Given the description of an element on the screen output the (x, y) to click on. 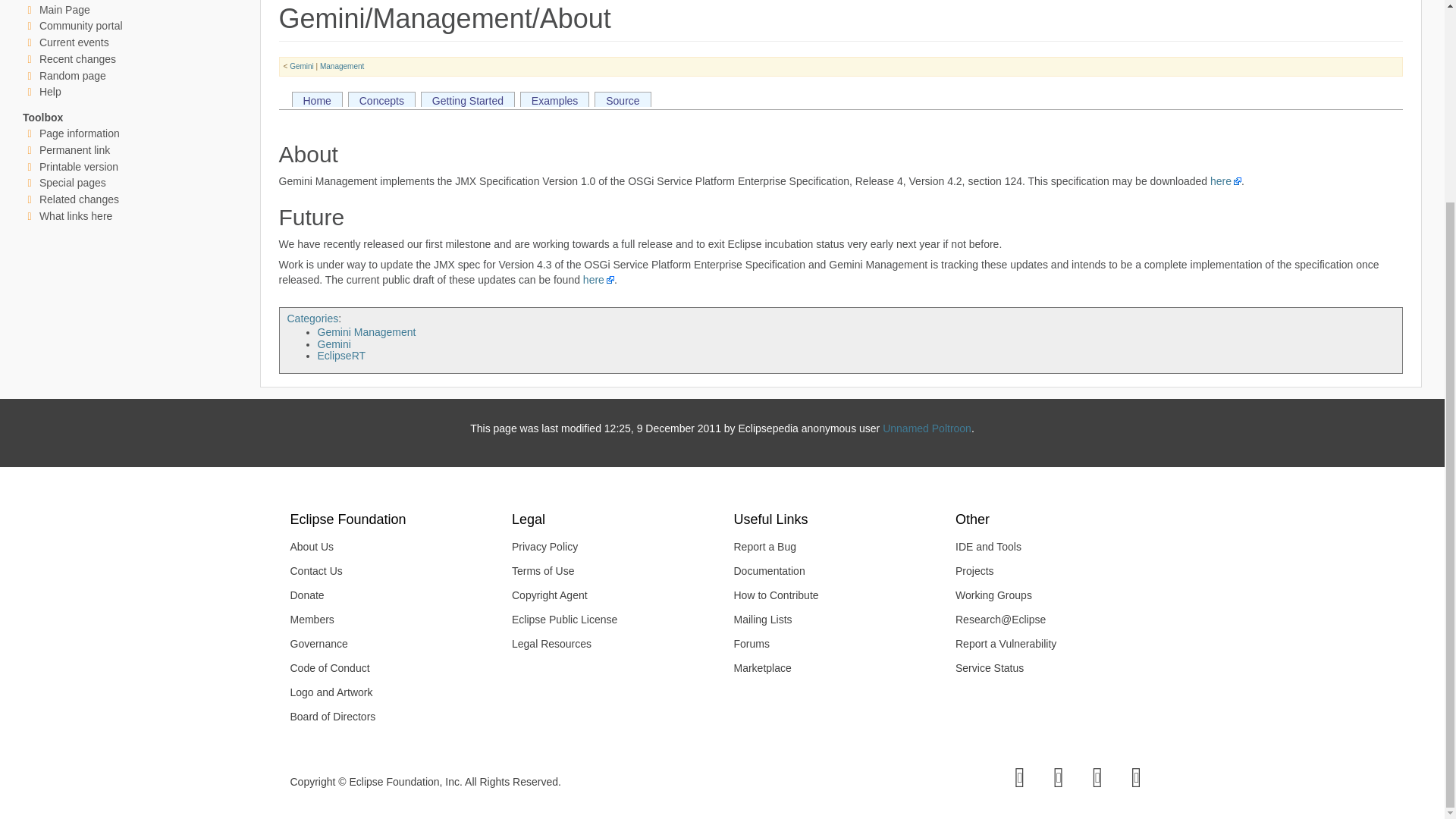
About the project, what you can do, where to find things (80, 25)
Permanent link to this revision of the page (74, 150)
The place to find out (50, 91)
Find background information on current events (74, 42)
More information about this page (79, 133)
